Given the description of an element on the screen output the (x, y) to click on. 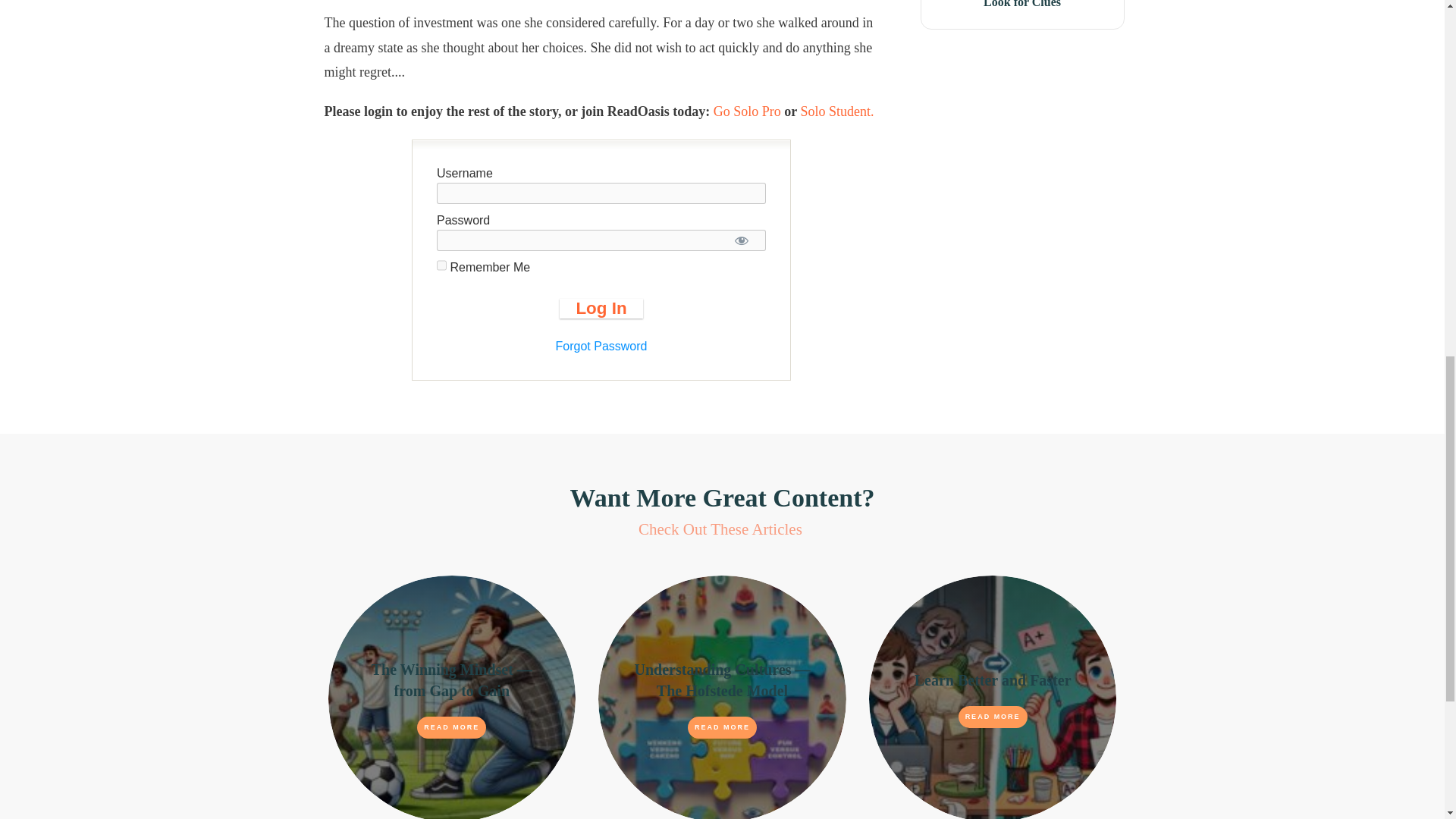
Log In (600, 308)
